Given the description of an element on the screen output the (x, y) to click on. 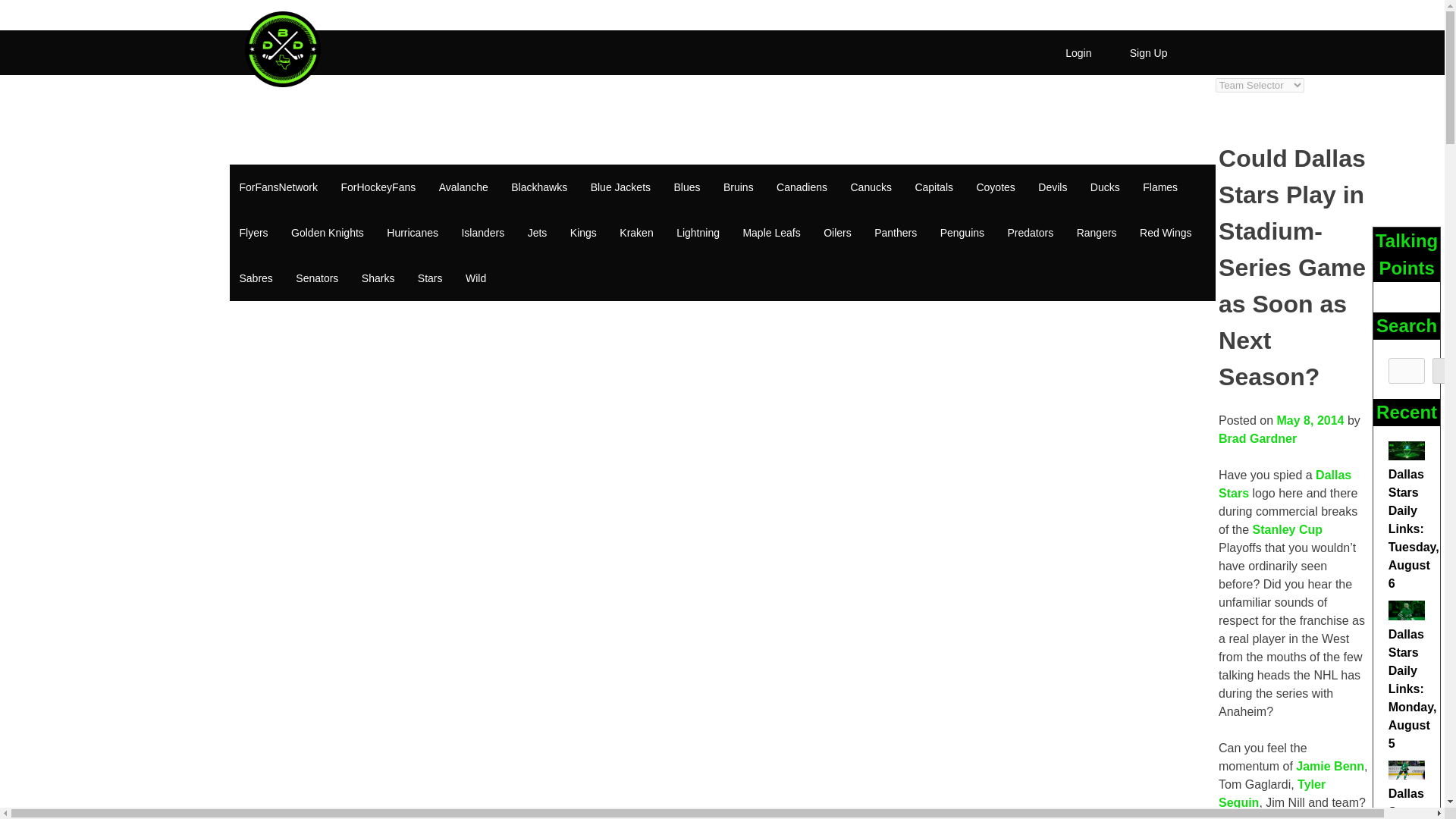
Hurricanes (412, 232)
Predators (1030, 232)
Kraken (636, 232)
Oilers (837, 232)
Lightning (697, 232)
Flames (1160, 187)
ForFansNetwork (277, 187)
Our Team (681, 96)
Prospects (545, 96)
ForHockeyFans (377, 187)
